Given the description of an element on the screen output the (x, y) to click on. 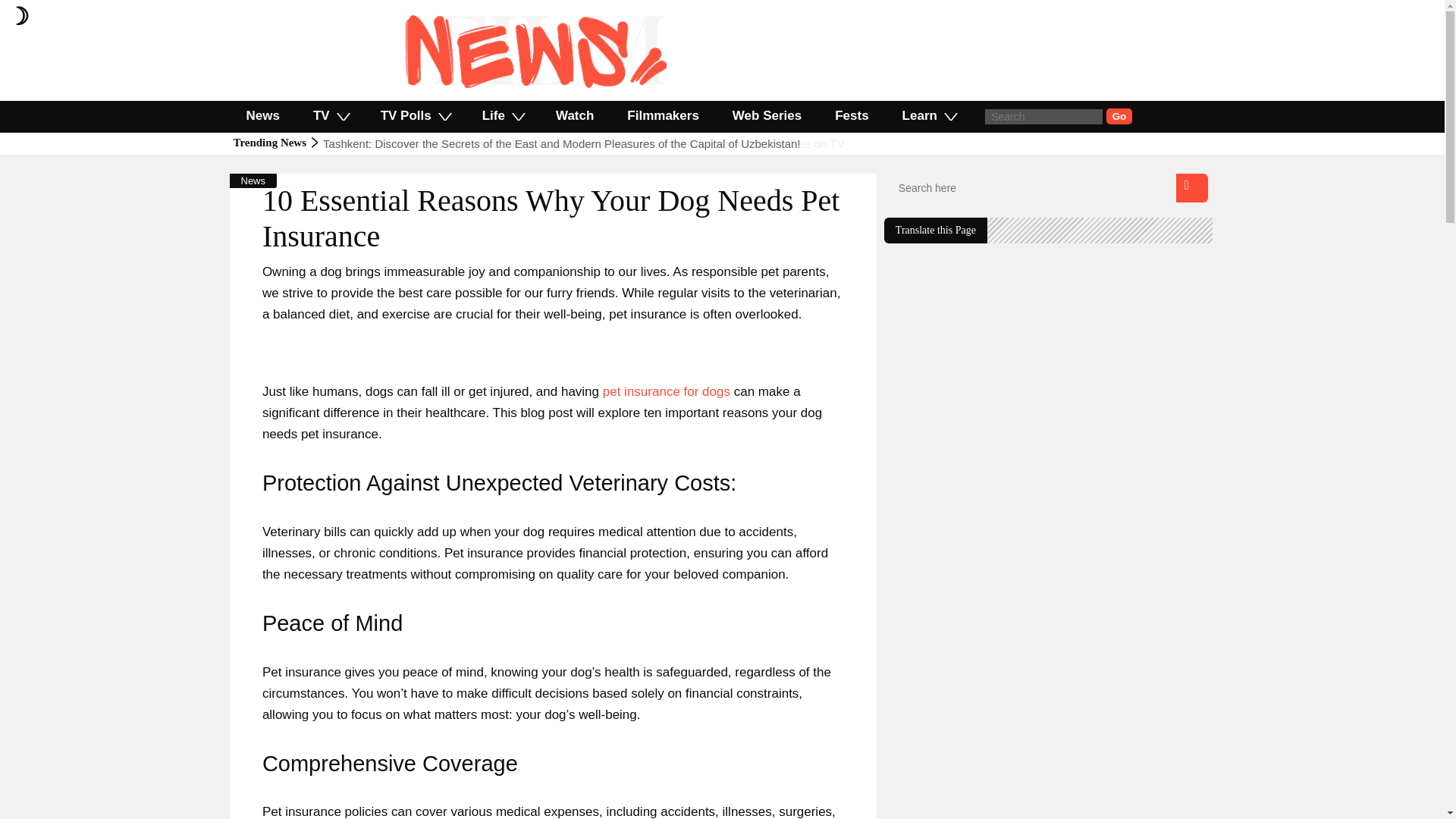
Go (1119, 116)
News (261, 115)
Go (1119, 116)
Filmmakers (663, 115)
Web Series (767, 115)
Watch (574, 115)
TV (330, 115)
Learn (928, 115)
Life (501, 115)
